Given the description of an element on the screen output the (x, y) to click on. 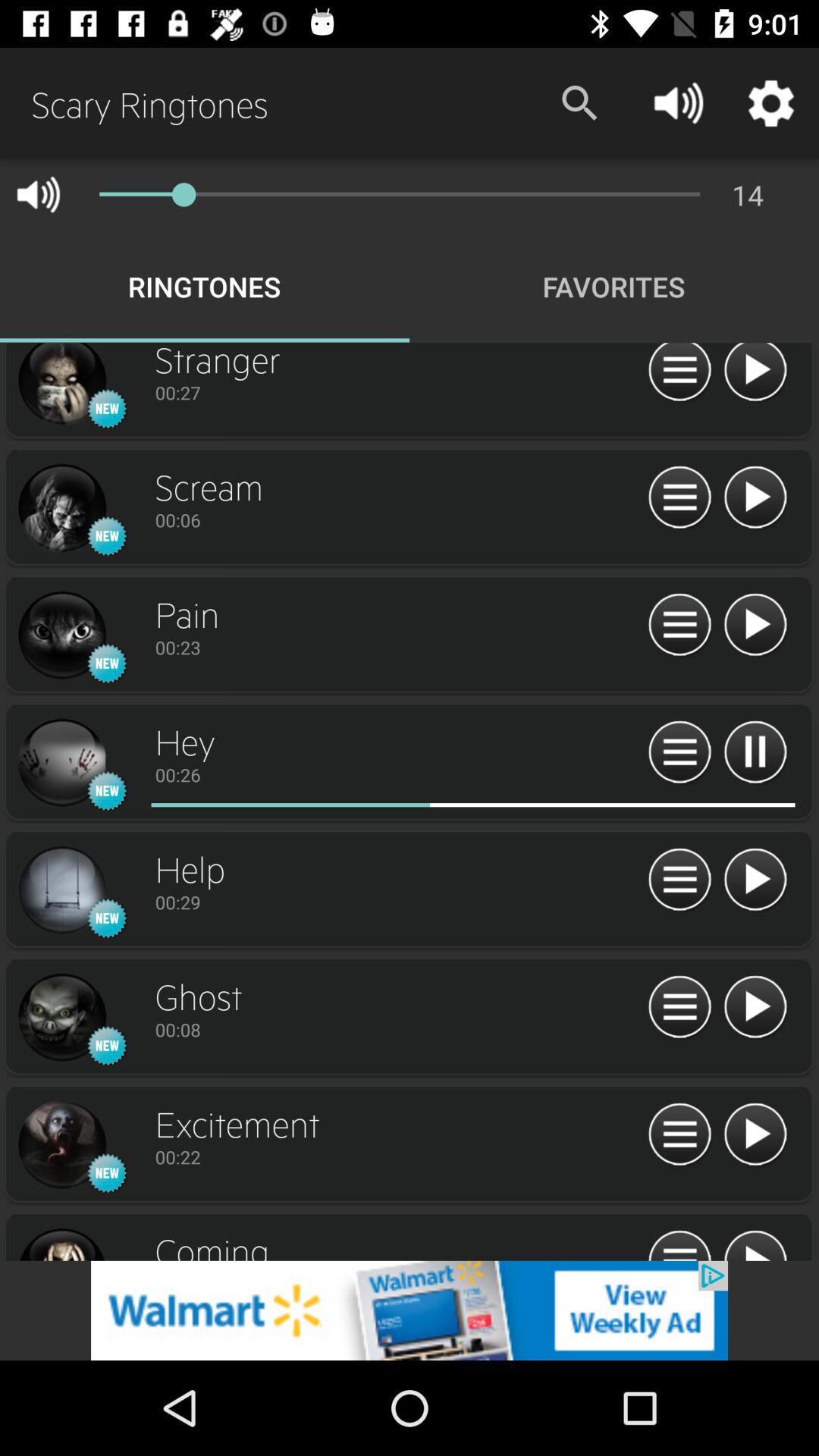
pause audio (755, 752)
